Given the description of an element on the screen output the (x, y) to click on. 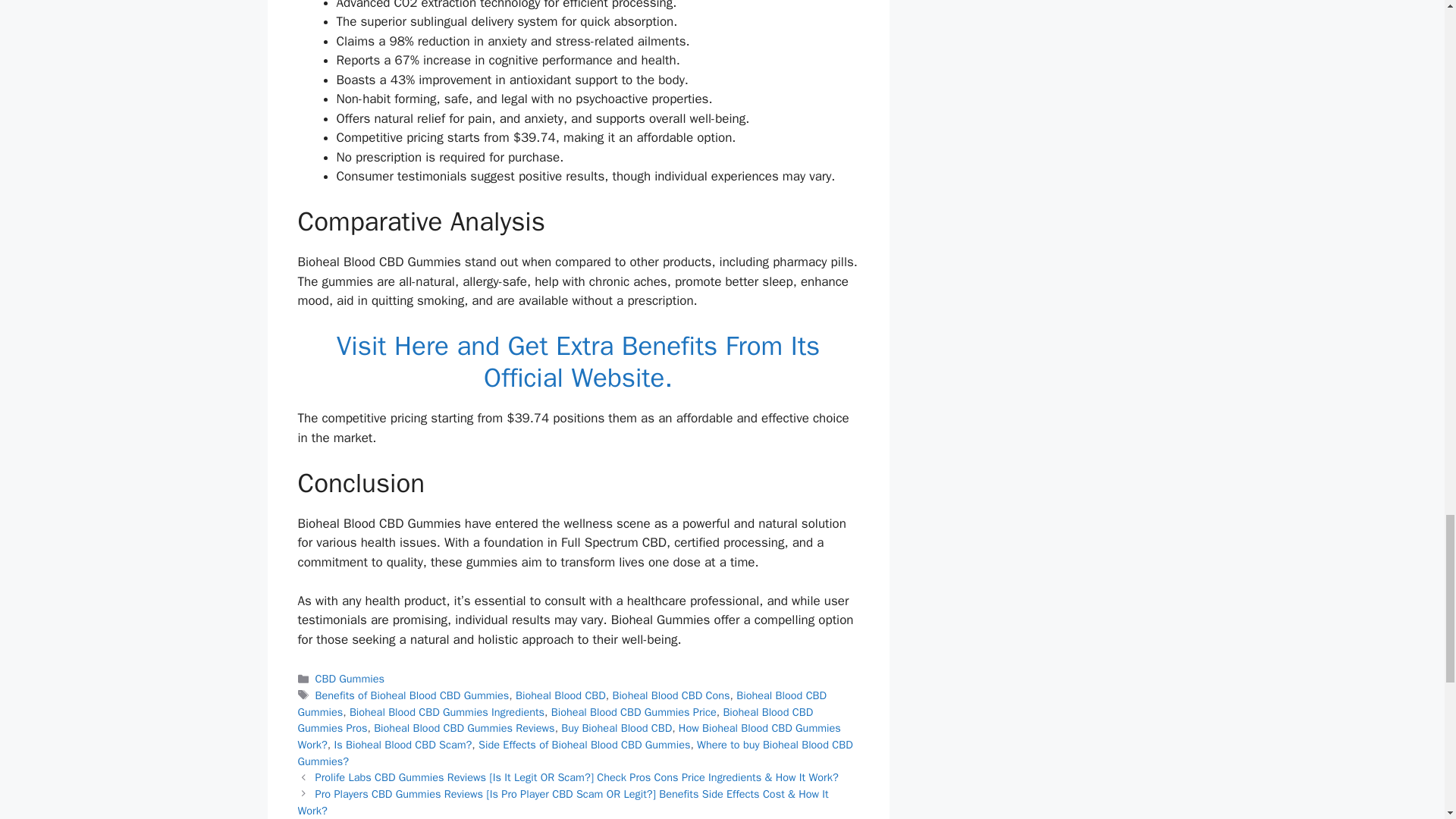
How Bioheal Blood CBD Gummies Work? (568, 736)
Bioheal Blood CBD Gummies Ingredients (446, 712)
Bioheal Blood CBD Gummies Pros (554, 720)
Bioheal Blood CBD Gummies Price (633, 712)
Where to buy Bioheal Blood CBD Gummies? (574, 752)
Bioheal Blood CBD Gummies Reviews (464, 727)
Visit Here and Get Extra Benefits From Its Official Website. (578, 361)
Side Effects of Bioheal Blood CBD Gummies (584, 744)
Bioheal Blood CBD (560, 694)
Buy Bioheal Blood CBD (615, 727)
CBD Gummies (349, 678)
Bioheal Blood CBD Cons (670, 694)
Bioheal Blood CBD Gummies (562, 703)
Benefits of Bioheal Blood CBD Gummies (412, 694)
Is Bioheal Blood CBD Scam? (402, 744)
